Given the description of an element on the screen output the (x, y) to click on. 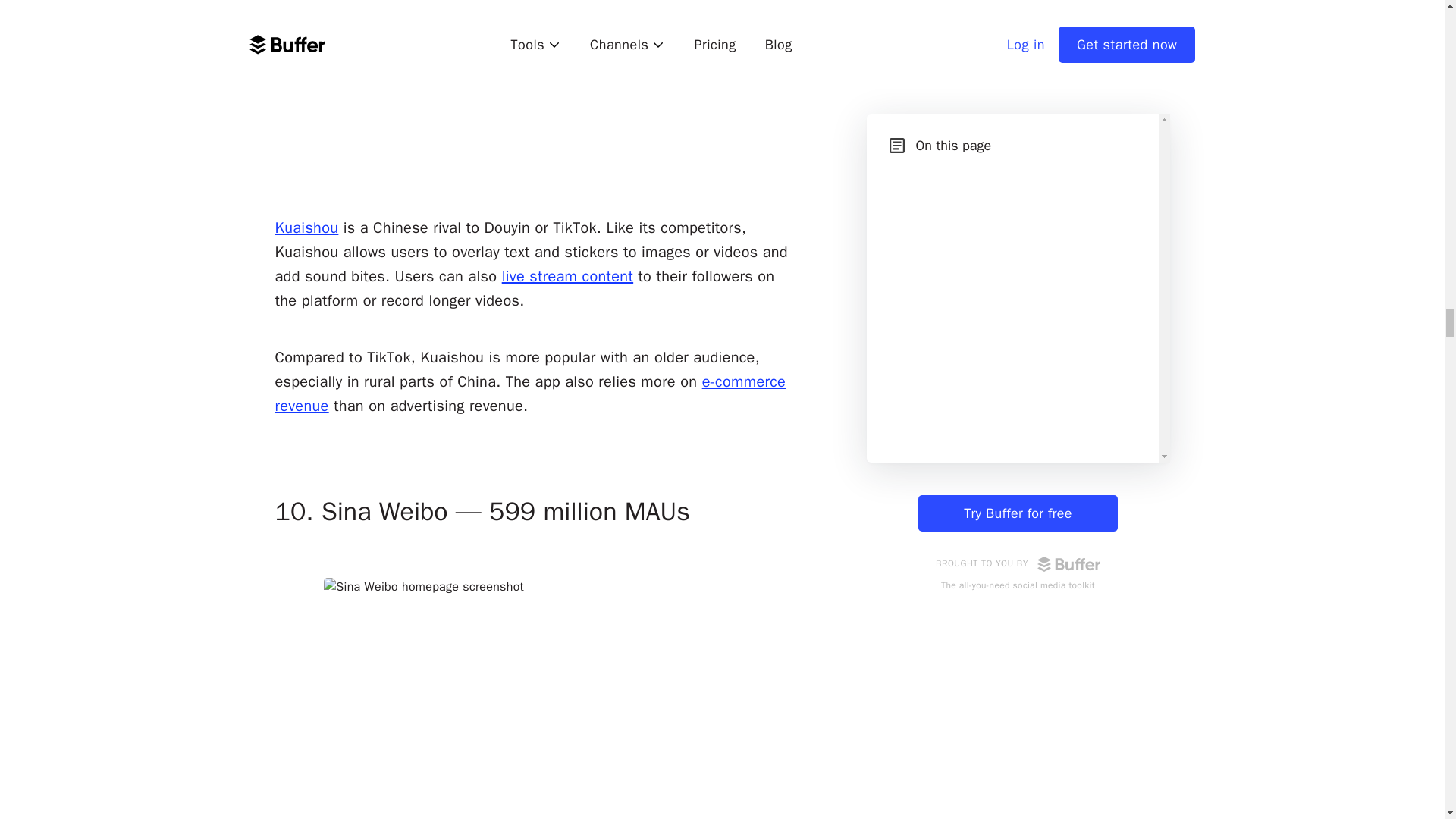
Sina Weibo homepage screenshot (537, 698)
